Given the description of an element on the screen output the (x, y) to click on. 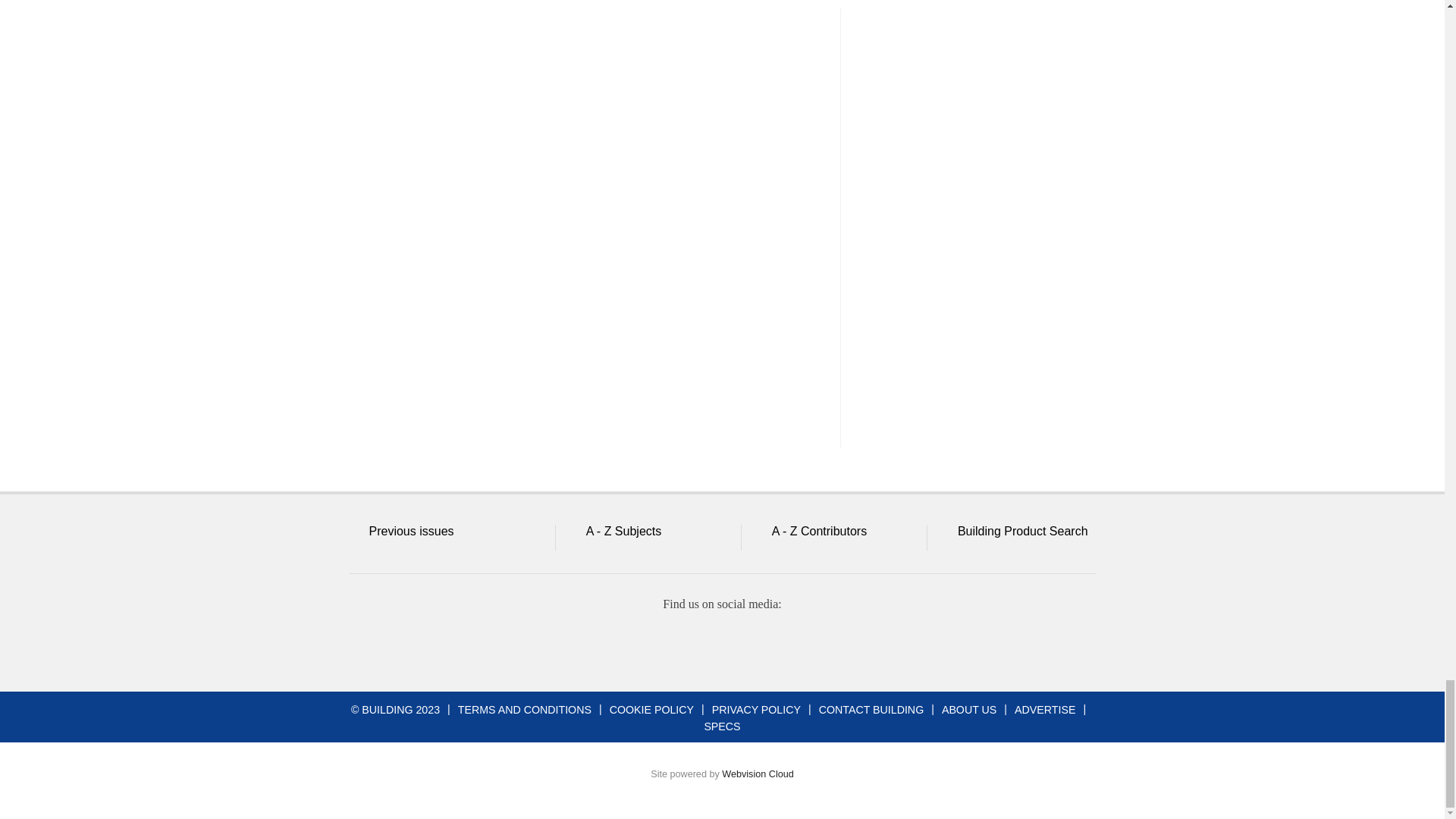
Connect with us on Pinterest (830, 645)
Connect with us on Facebook (611, 645)
Connect with us on Twitter (667, 645)
Connect with us on Linked in (721, 645)
Email us (776, 645)
